Given the description of an element on the screen output the (x, y) to click on. 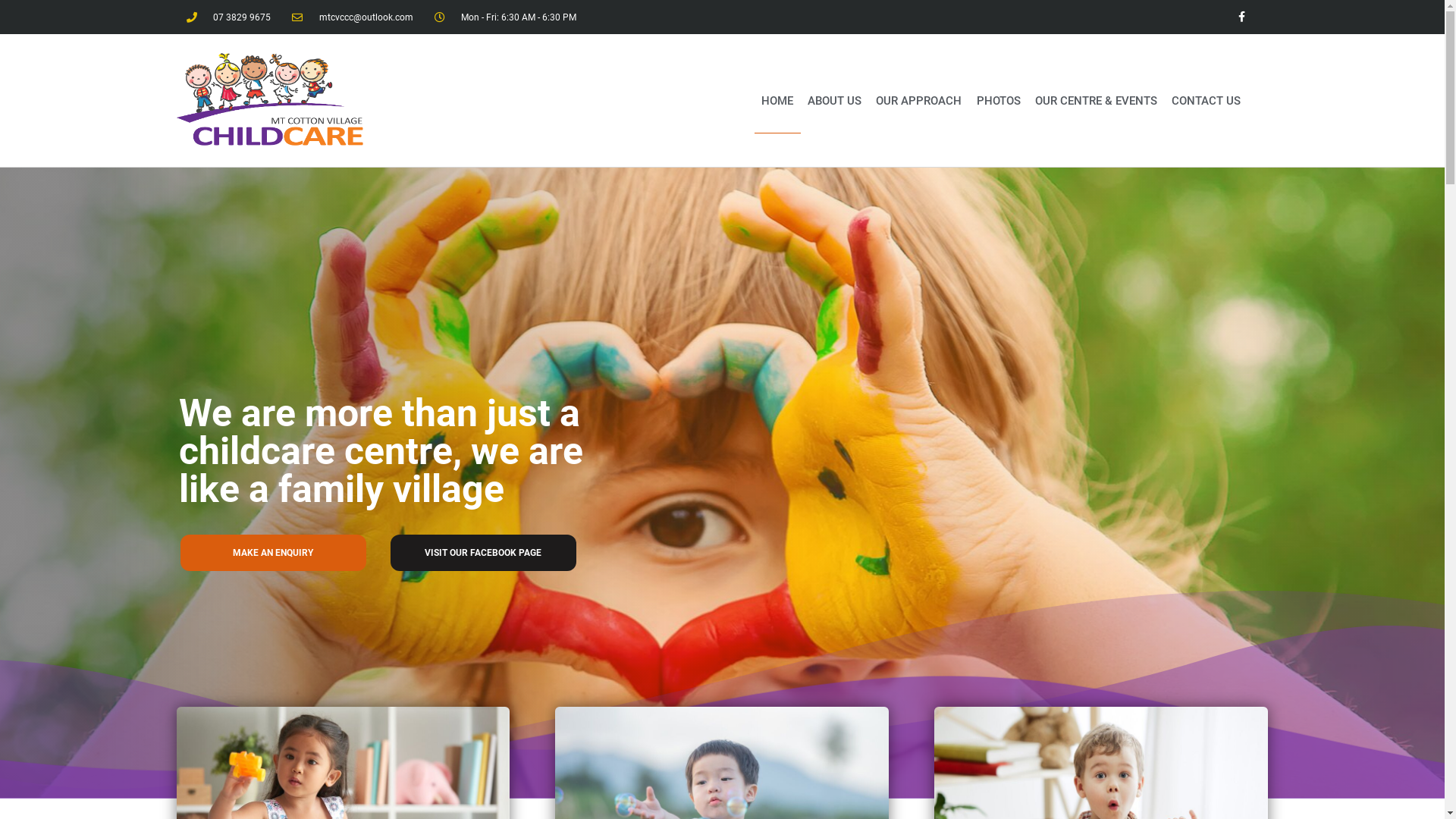
CONTACT US Element type: text (1205, 100)
mtcvccc@outlook.com Element type: text (352, 17)
HOME Element type: text (777, 100)
07 3829 9675 Element type: text (228, 17)
MAKE AN ENQUIRY Element type: text (273, 552)
OUR APPROACH Element type: text (919, 100)
ABOUT US Element type: text (834, 100)
OUR CENTRE & EVENTS Element type: text (1095, 100)
VISIT OUR FACEBOOK PAGE Element type: text (483, 552)
PHOTOS Element type: text (998, 100)
